Given the description of an element on the screen output the (x, y) to click on. 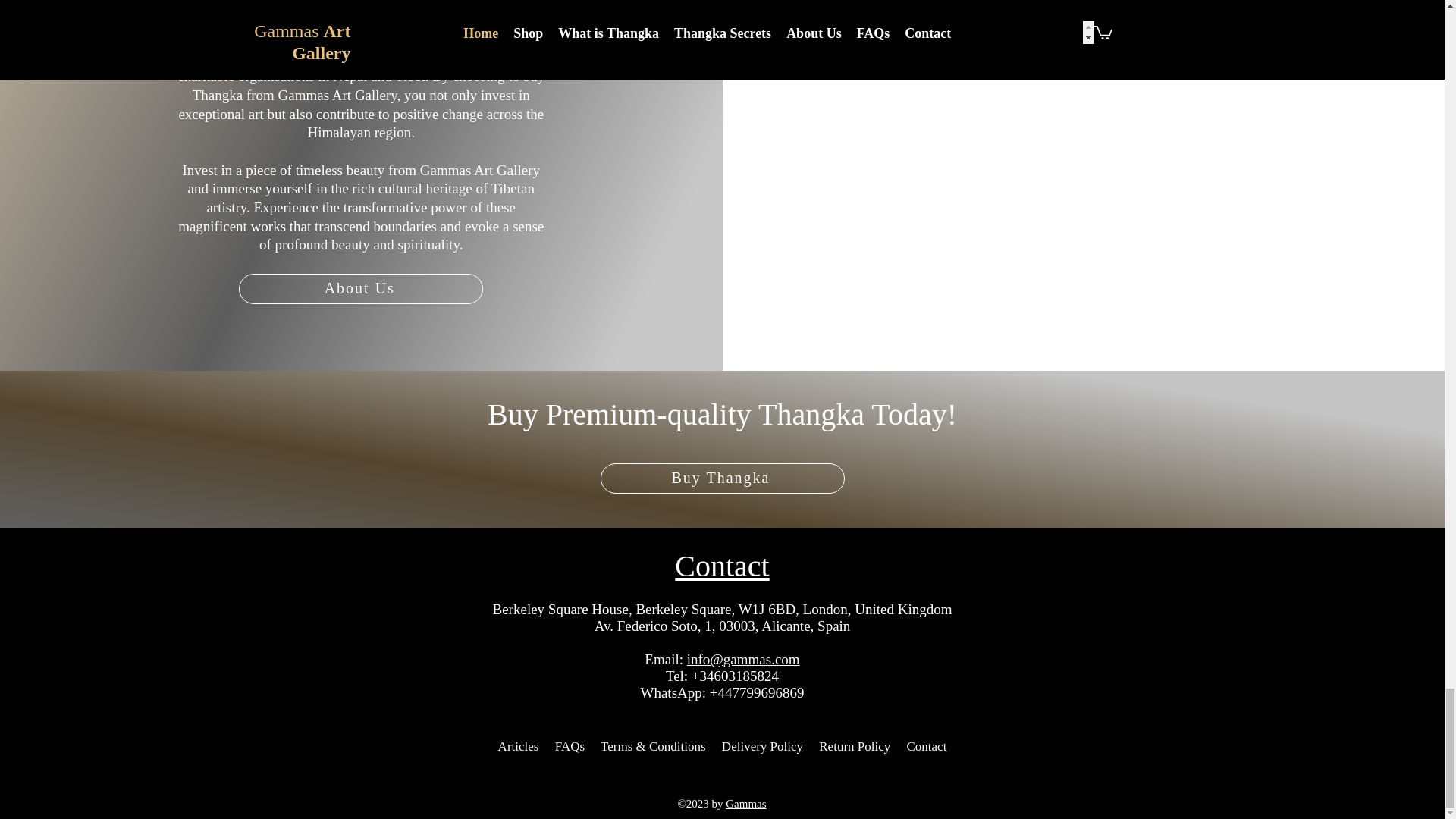
About Us (360, 288)
Gammas (745, 803)
Articles (517, 746)
FAQs (569, 746)
Contact (927, 746)
Contact (721, 565)
Buy Thangka (721, 478)
Delivery Policy (762, 746)
Return Policy (853, 746)
